Given the description of an element on the screen output the (x, y) to click on. 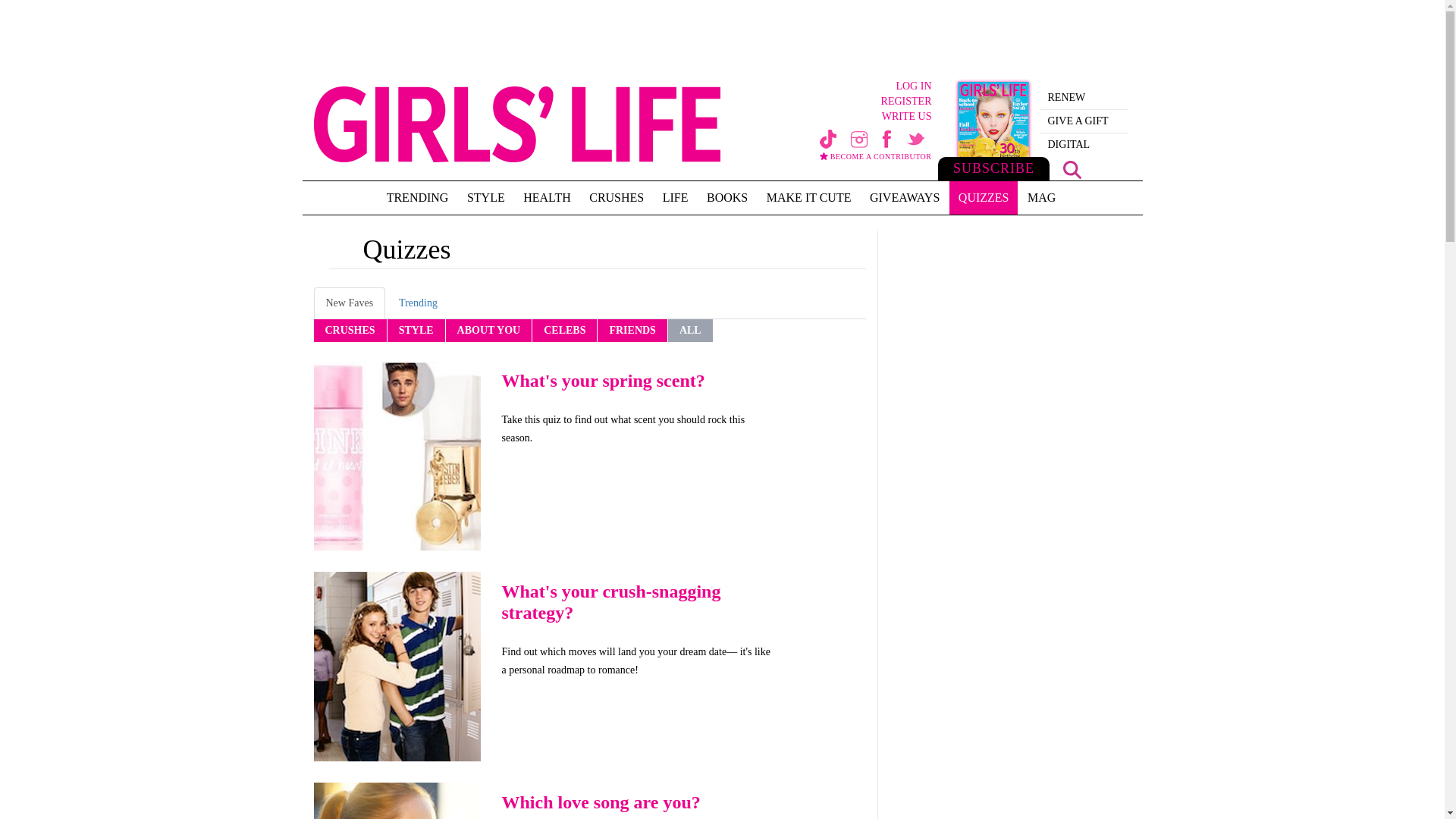
BECOME A CONTRIBUTOR (875, 160)
CRUSHES (615, 197)
SUBSCRIBE (994, 129)
TRENDING (417, 197)
LOG IN (844, 86)
STYLE (485, 197)
WRITE US (844, 116)
REGISTER (844, 101)
HEALTH (546, 197)
GIVE A GIFT (1084, 120)
